Given the description of an element on the screen output the (x, y) to click on. 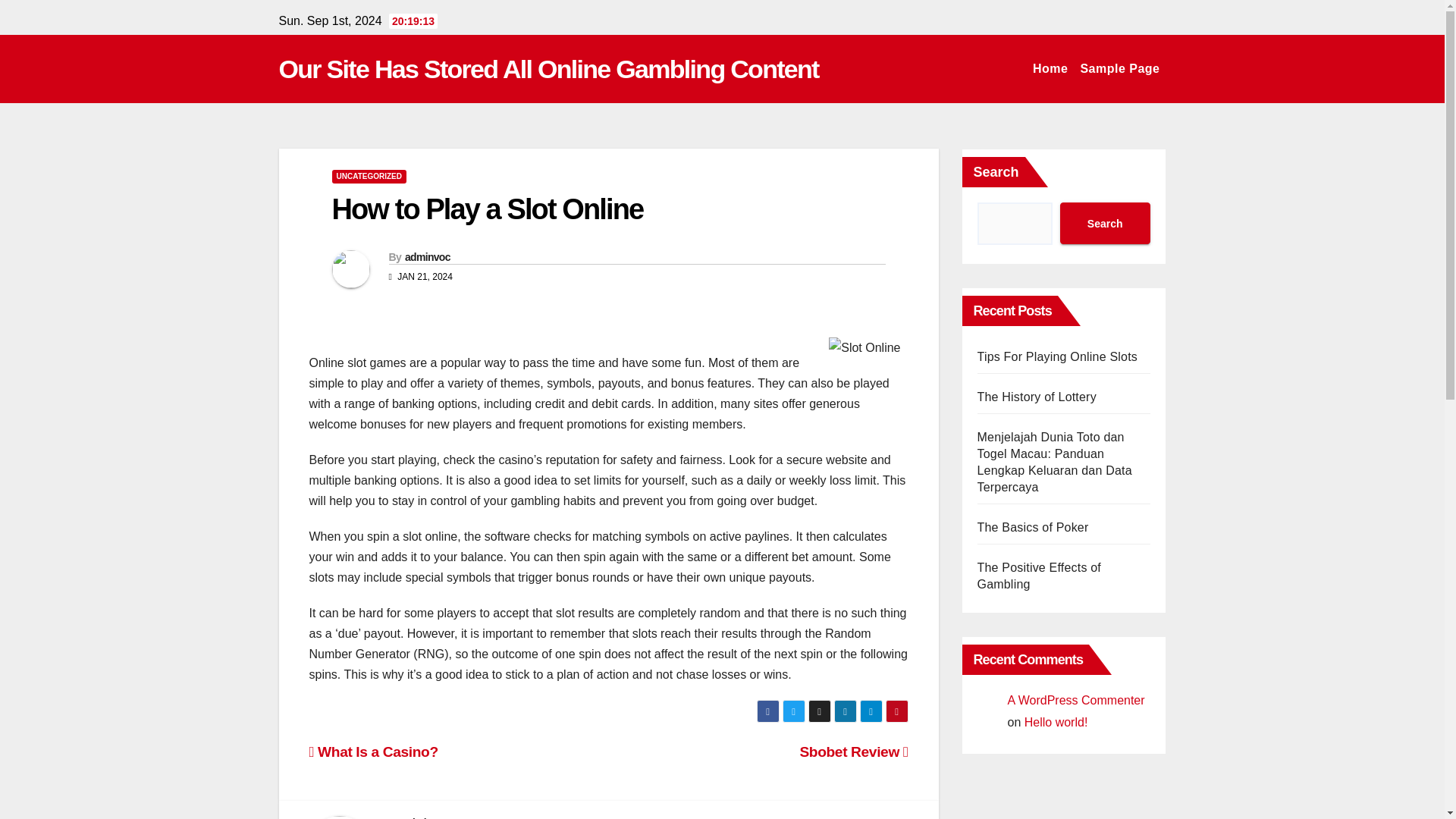
adminvoc (425, 817)
The History of Lottery (1036, 396)
Sbobet Review (853, 751)
UNCATEGORIZED (368, 176)
A WordPress Commenter (1075, 699)
The Positive Effects of Gambling (1038, 575)
Hello world! (1056, 721)
How to Play a Slot Online (487, 209)
Tips For Playing Online Slots (1056, 356)
